Given the description of an element on the screen output the (x, y) to click on. 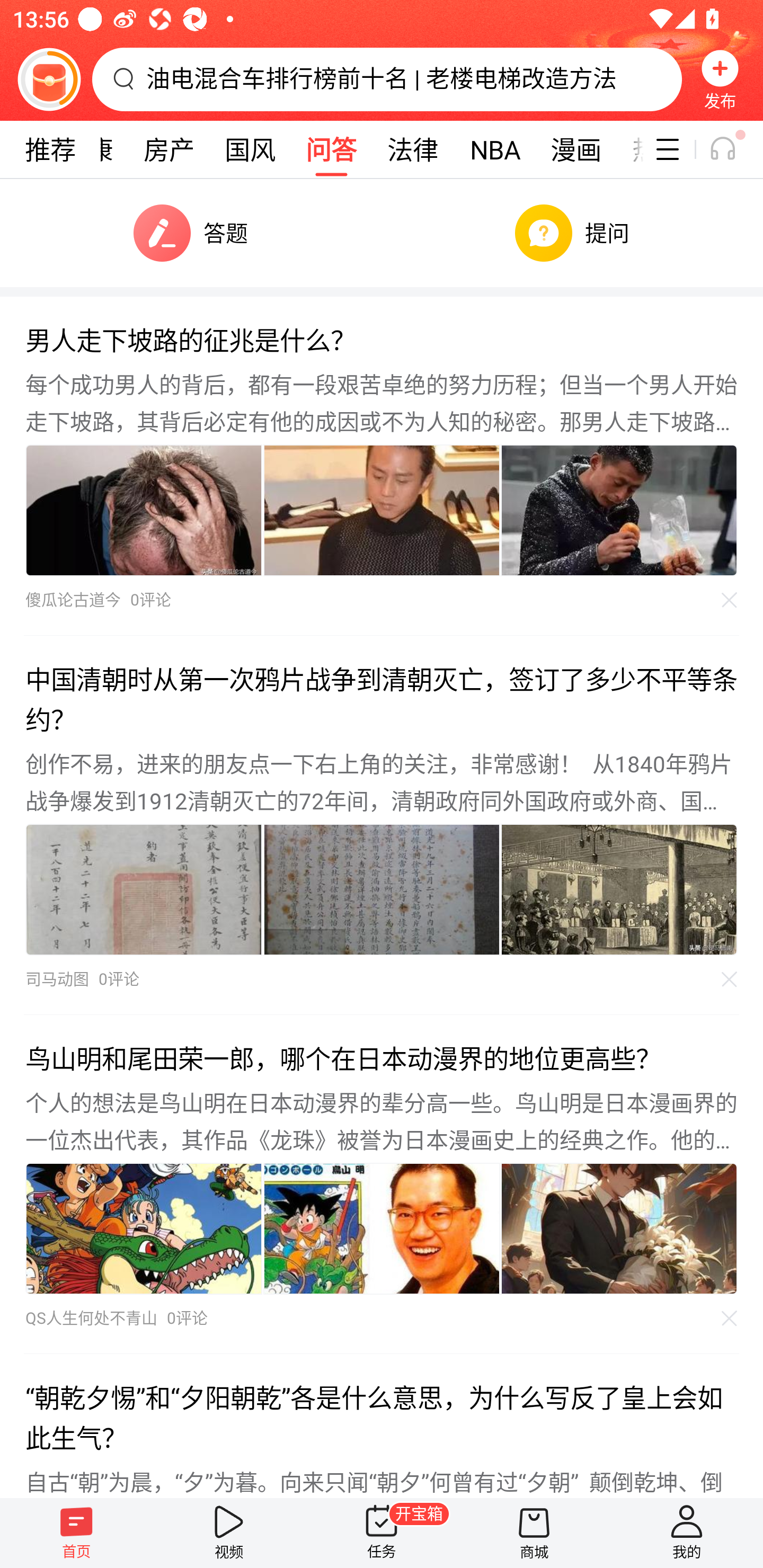
阅读赚金币 (48, 79)
油电混合车排行榜前十名 | 老楼电梯改造方法 搜索框，油电混合车排行榜前十名 | 老楼电梯改造方法 (387, 79)
发布 发布，按钮 (720, 78)
推荐 (49, 149)
房产 (168, 149)
国风 (249, 149)
问答 (331, 149)
法律 (412, 149)
NBA (494, 149)
漫画 (575, 149)
听一听开关 (732, 149)
答题 (190, 232)
提问 (572, 232)
不感兴趣 (729, 600)
不感兴趣 (729, 979)
不感兴趣 (729, 1318)
首页 (76, 1532)
视频 (228, 1532)
任务 开宝箱 (381, 1532)
商城 (533, 1532)
我的 (686, 1532)
